Given the description of an element on the screen output the (x, y) to click on. 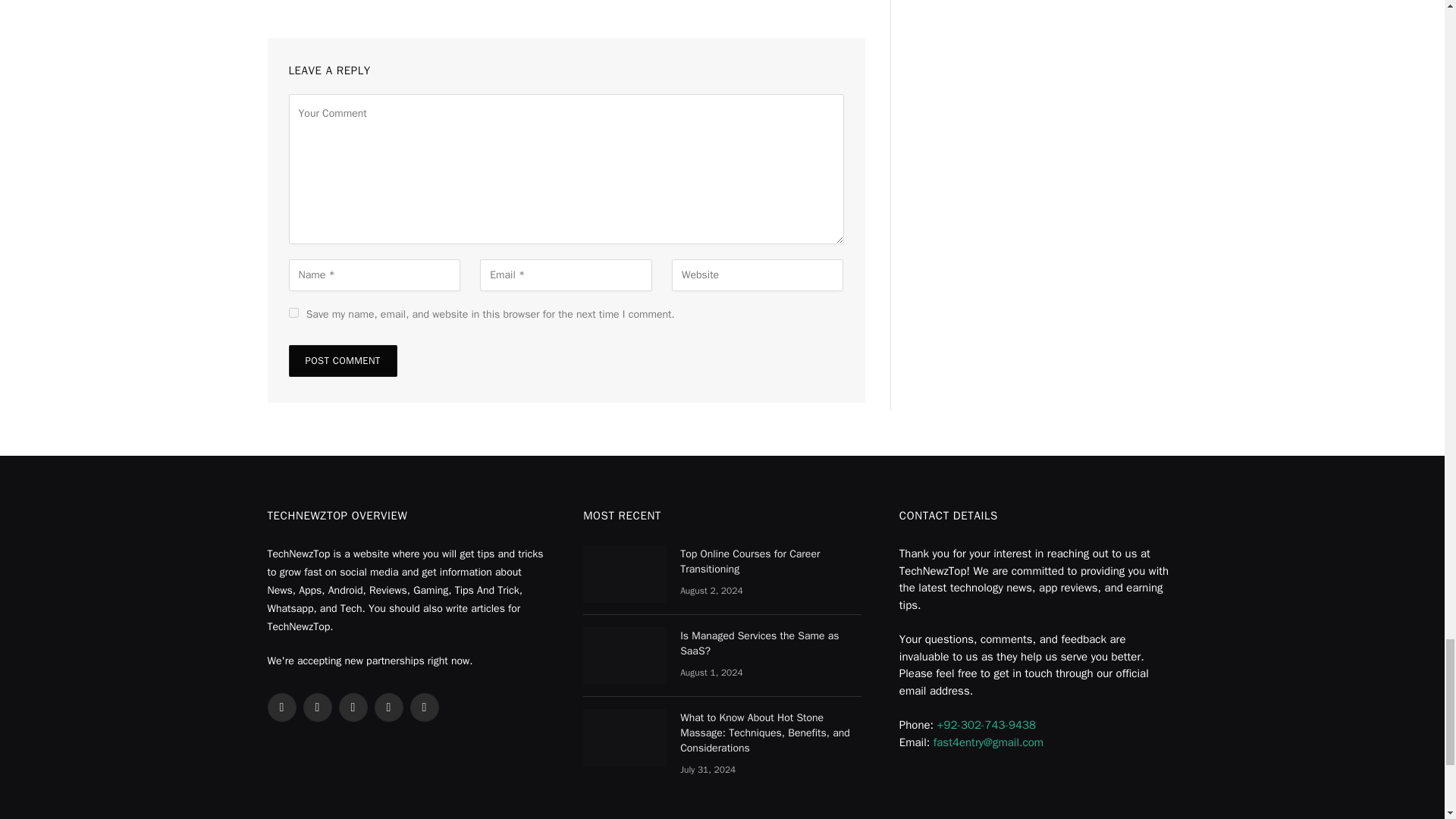
yes (293, 312)
Post Comment (342, 360)
